Given the description of an element on the screen output the (x, y) to click on. 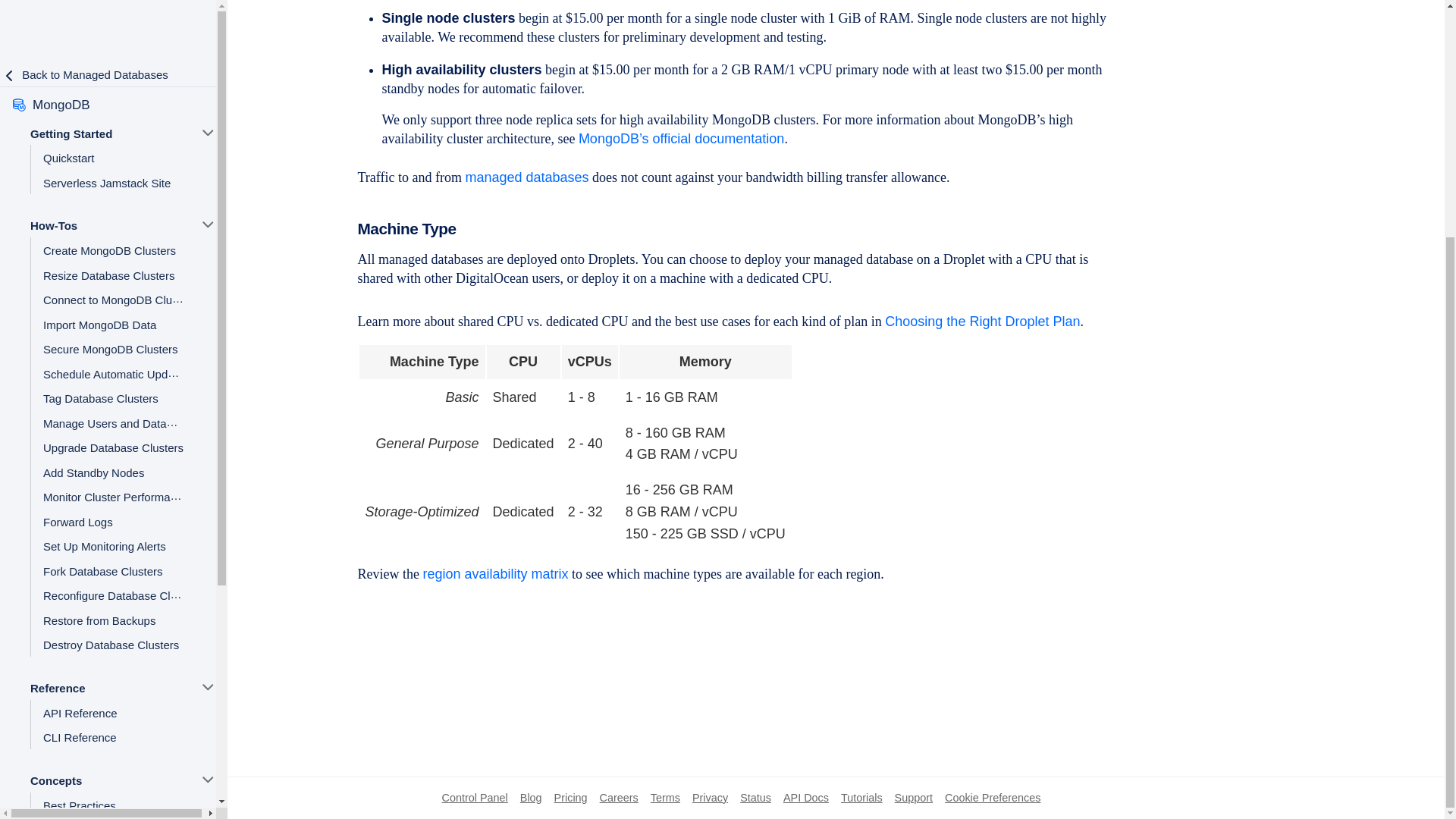
Concepts (106, 455)
Forward Logs (113, 196)
Import MongoDB Data (113, 6)
Manage Users and Databases (113, 97)
Reference (106, 362)
Destroy Database Clusters (113, 319)
Tag Database Clusters (113, 72)
Add Standby Nodes (113, 147)
Set Up Monitoring Alerts (113, 220)
CLI Reference (113, 412)
